Given the description of an element on the screen output the (x, y) to click on. 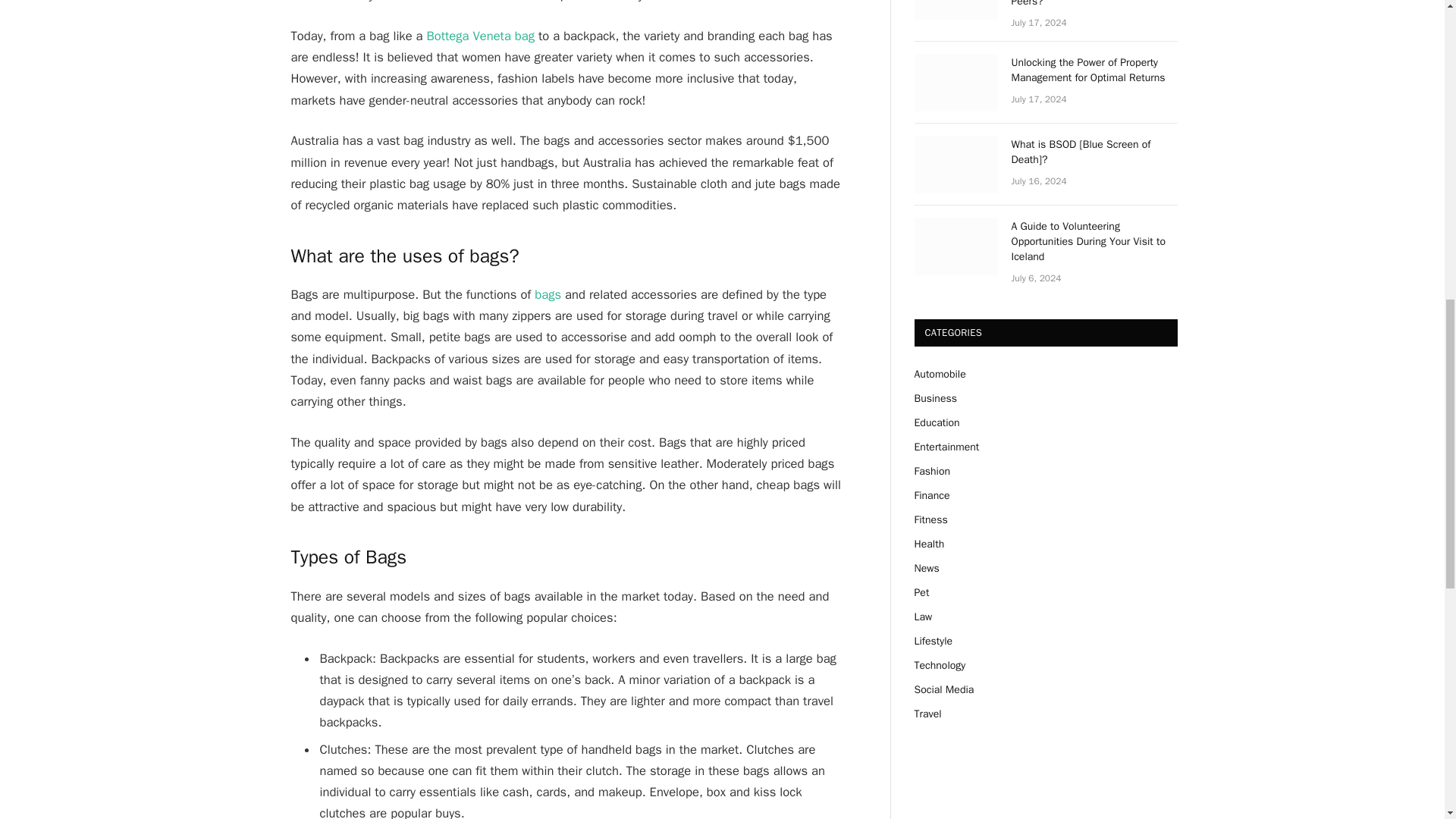
bags (549, 294)
Bottega Veneta bag (480, 35)
